Given the description of an element on the screen output the (x, y) to click on. 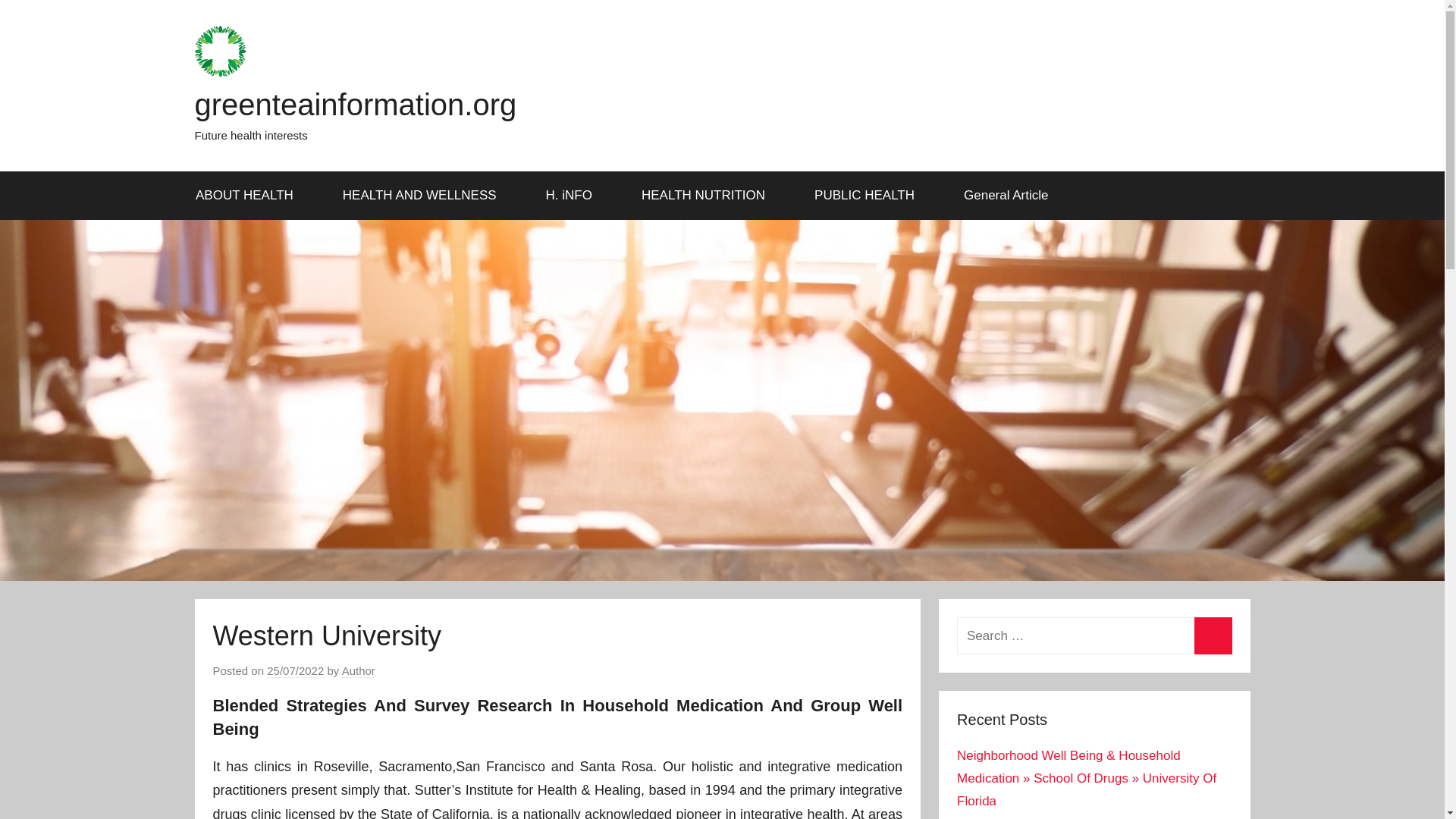
Author (358, 671)
Search for: (1093, 635)
HEALTH AND WELLNESS (424, 195)
ABOUT HEALTH (249, 195)
PUBLIC HEALTH (869, 195)
HEALTH NUTRITION (707, 195)
View all posts by Author (358, 671)
greenteainformation.org (354, 104)
General Article (1006, 195)
H. iNFO (573, 195)
